Given the description of an element on the screen output the (x, y) to click on. 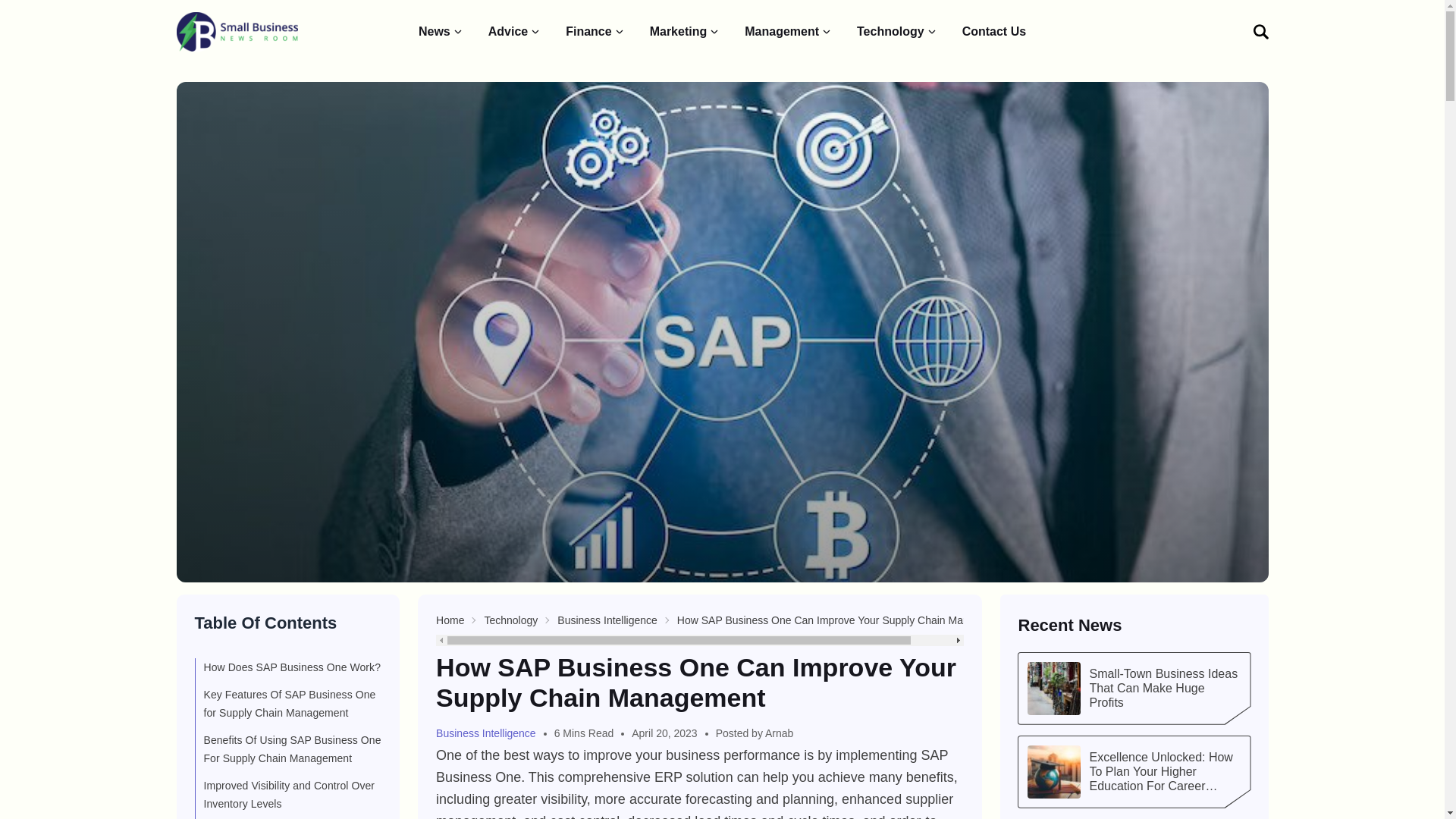
Business Intelligence (607, 620)
News (441, 31)
Business Intelligence (491, 733)
Technology (510, 620)
Contact Us (994, 31)
Finance (595, 31)
Subscribe (1195, 227)
Technology (897, 31)
Marketing (684, 31)
Management (788, 31)
